Given the description of an element on the screen output the (x, y) to click on. 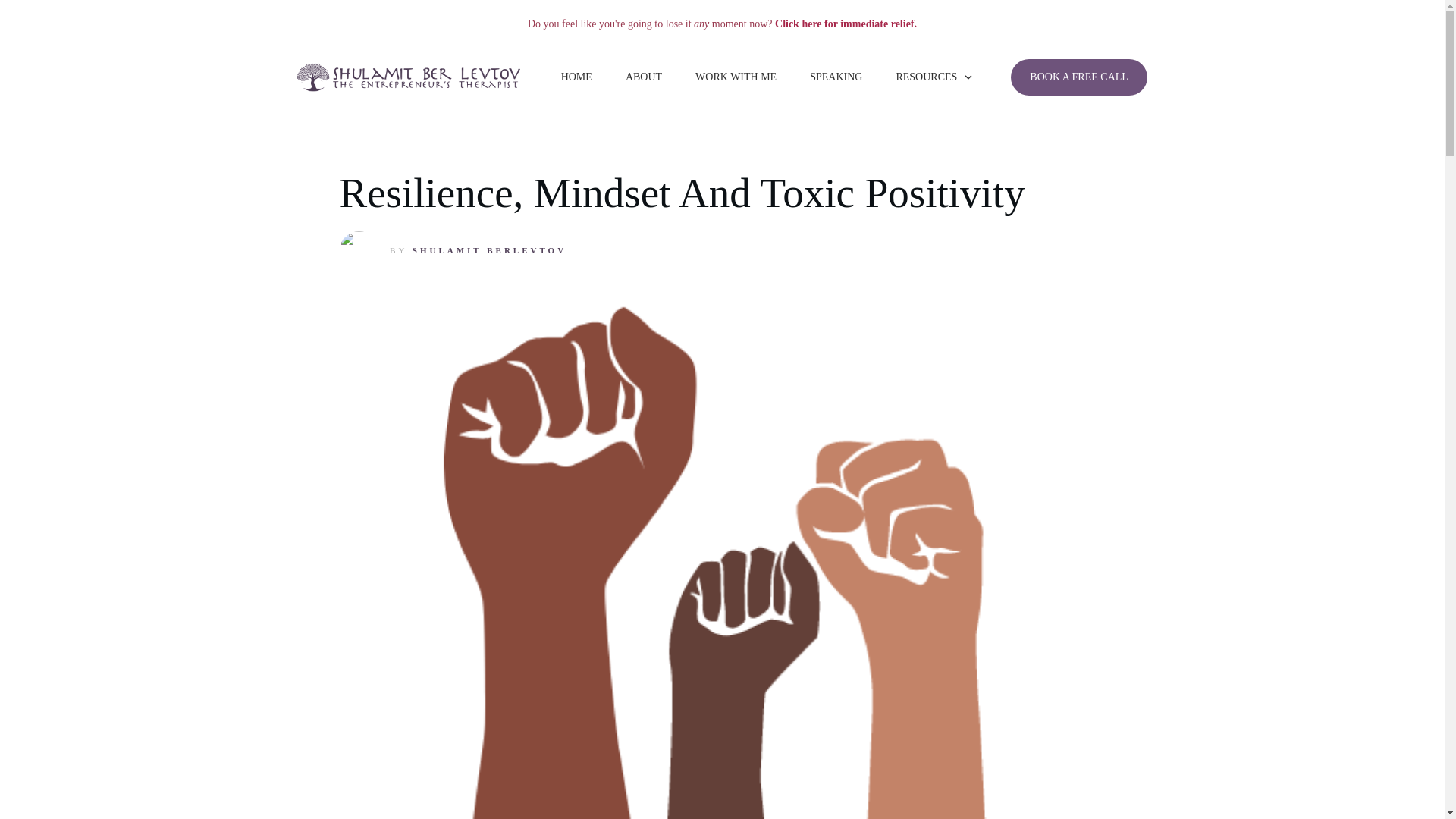
ABOUT (644, 76)
BOOK A FREE CALL (1078, 76)
Shulamit Ber Levtov this one pink headshot cropped (358, 249)
Click here for immediate relief. (845, 23)
WORK WITH ME (735, 76)
RESOURCES (934, 76)
SPEAKING (835, 76)
SHULAMIT BERLEVTOV (489, 249)
HOME (576, 76)
